Given the description of an element on the screen output the (x, y) to click on. 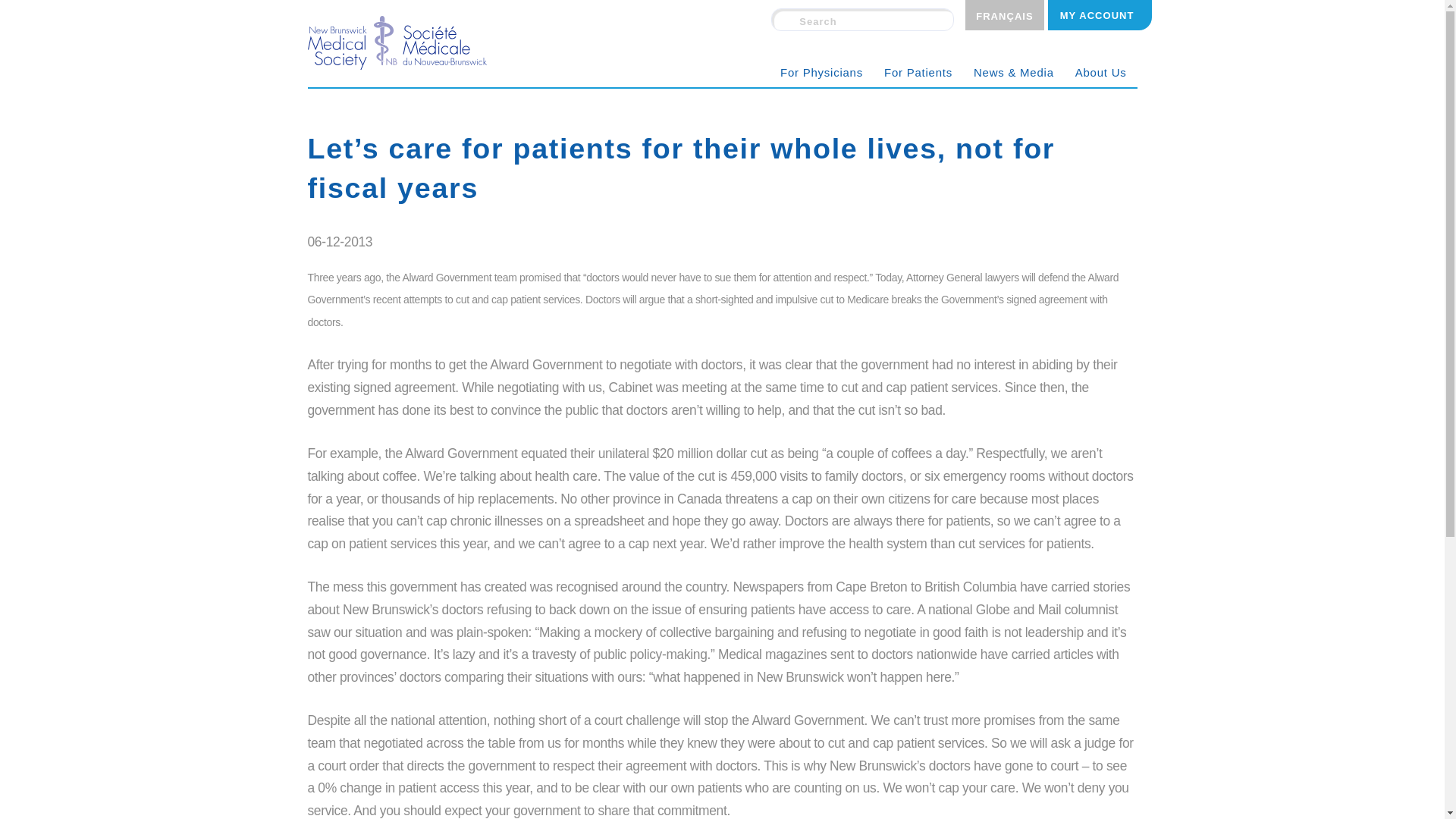
For Physicians (821, 72)
MY ACCOUNT (1099, 15)
For Patients (917, 72)
Log in (1099, 15)
